Given the description of an element on the screen output the (x, y) to click on. 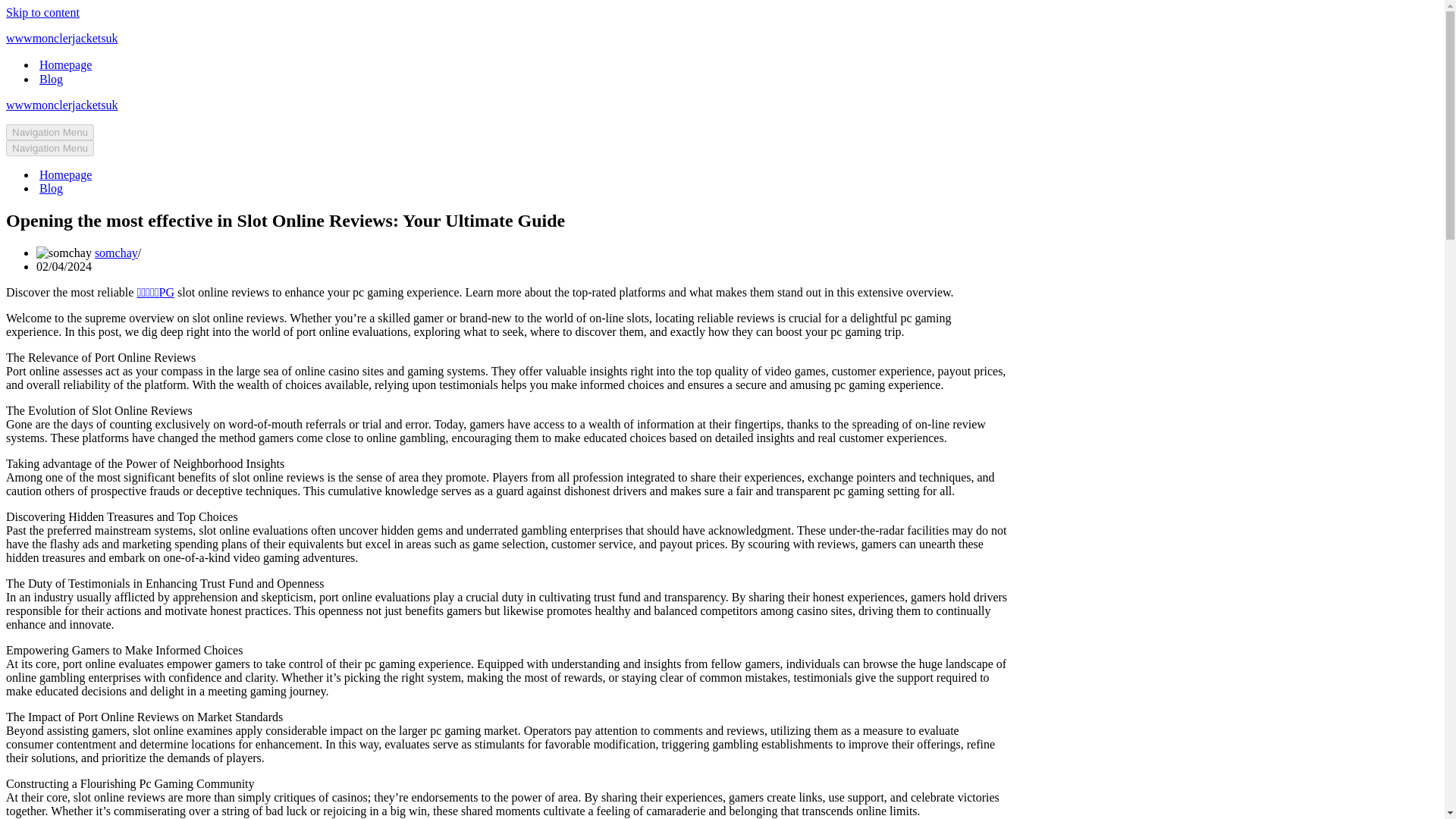
Posts by somchay (116, 252)
Skip to content (42, 11)
somchay (116, 252)
Navigation Menu (49, 148)
Blog (50, 79)
Homepage (65, 174)
Blog (50, 188)
Navigation Menu (49, 132)
Homepage (65, 64)
